Given the description of an element on the screen output the (x, y) to click on. 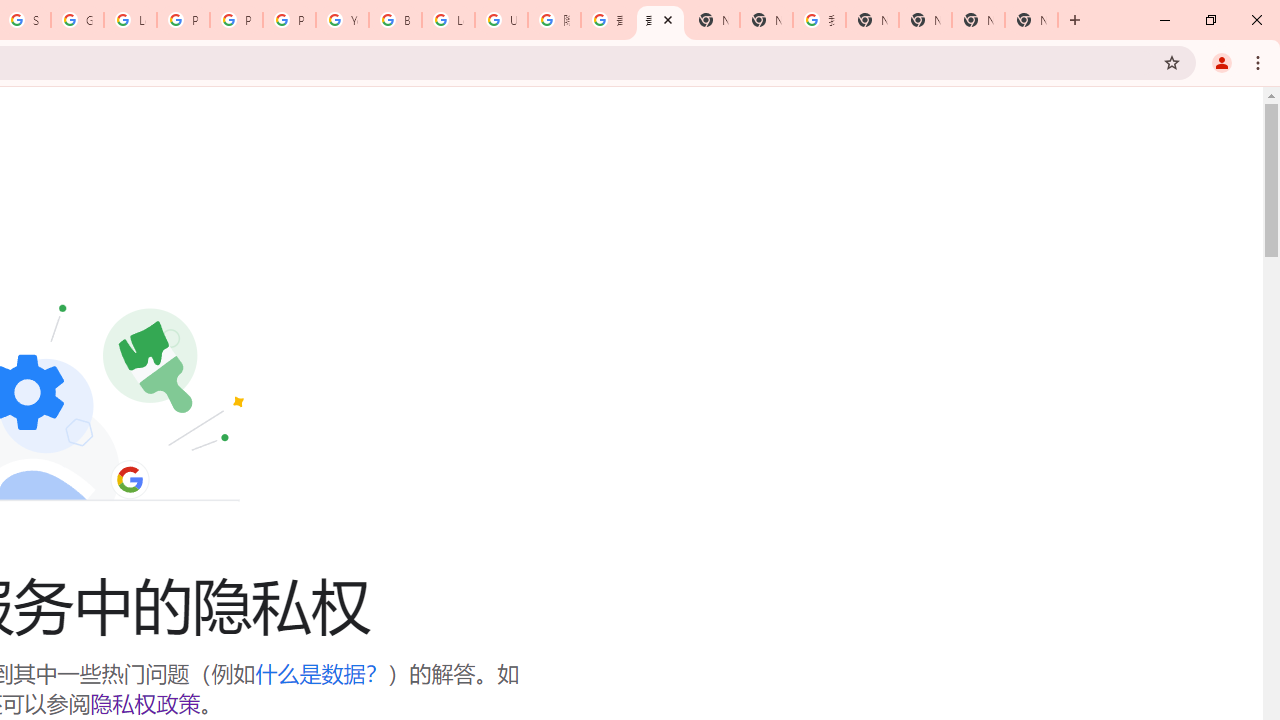
New Tab (713, 20)
YouTube (342, 20)
New Tab (1031, 20)
